Given the description of an element on the screen output the (x, y) to click on. 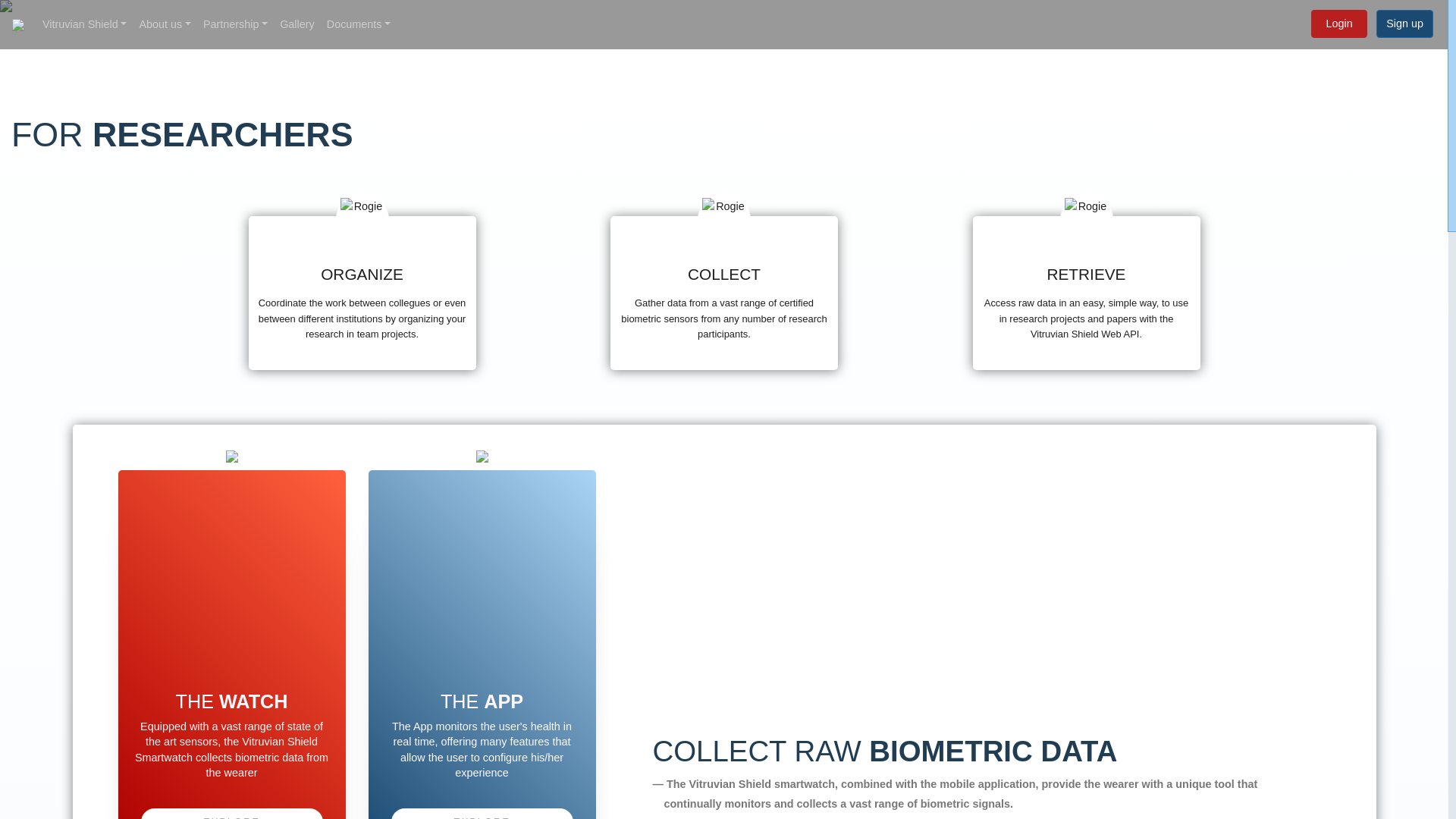
Partnership (234, 24)
Vitruvian Shield (84, 24)
Documents (358, 24)
Gallery (296, 24)
EXPLORE (482, 813)
About us (164, 24)
EXPLORE (232, 813)
Sign up (1403, 23)
Login (1339, 23)
